Given the description of an element on the screen output the (x, y) to click on. 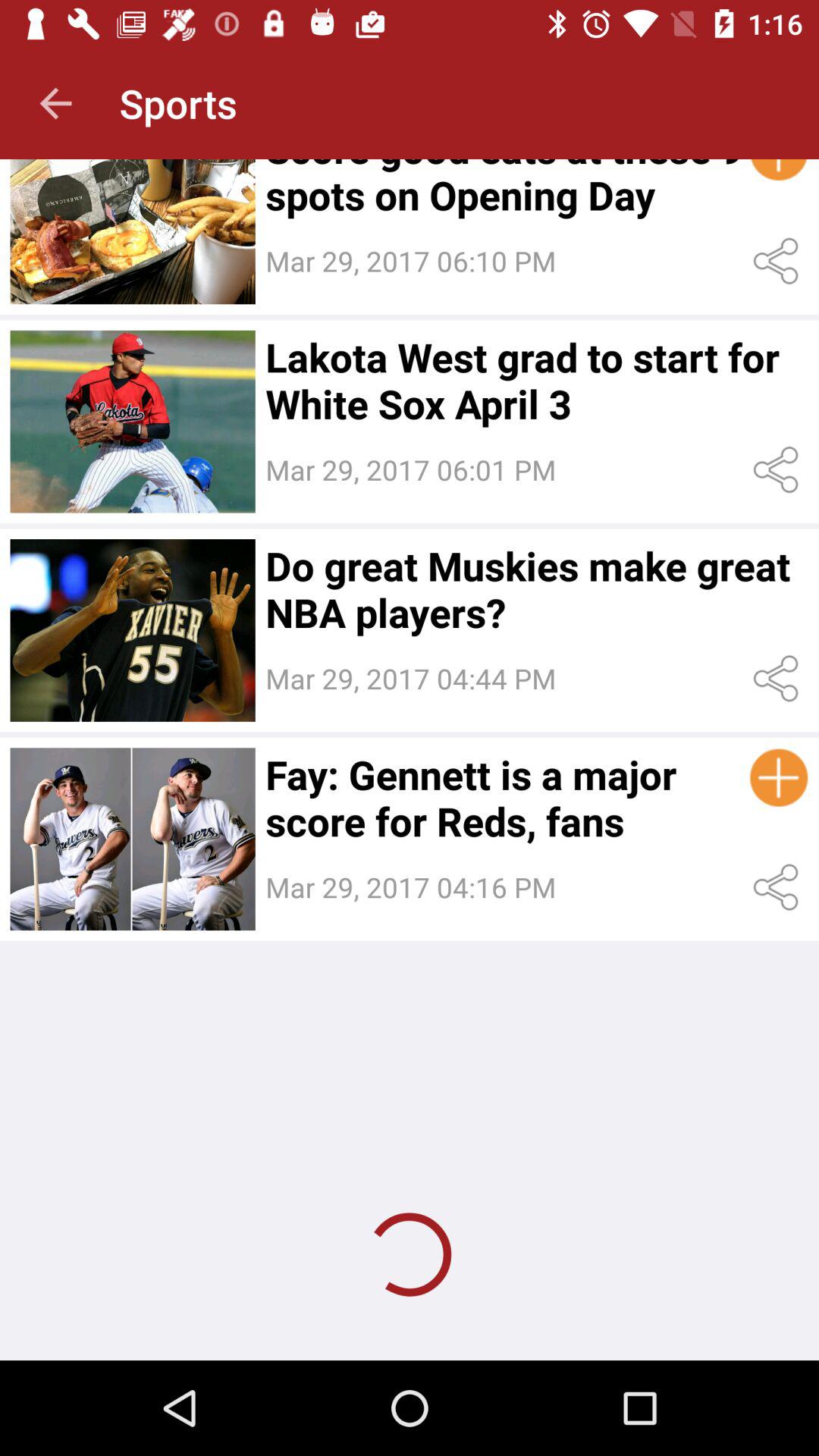
share article (778, 678)
